Given the description of an element on the screen output the (x, y) to click on. 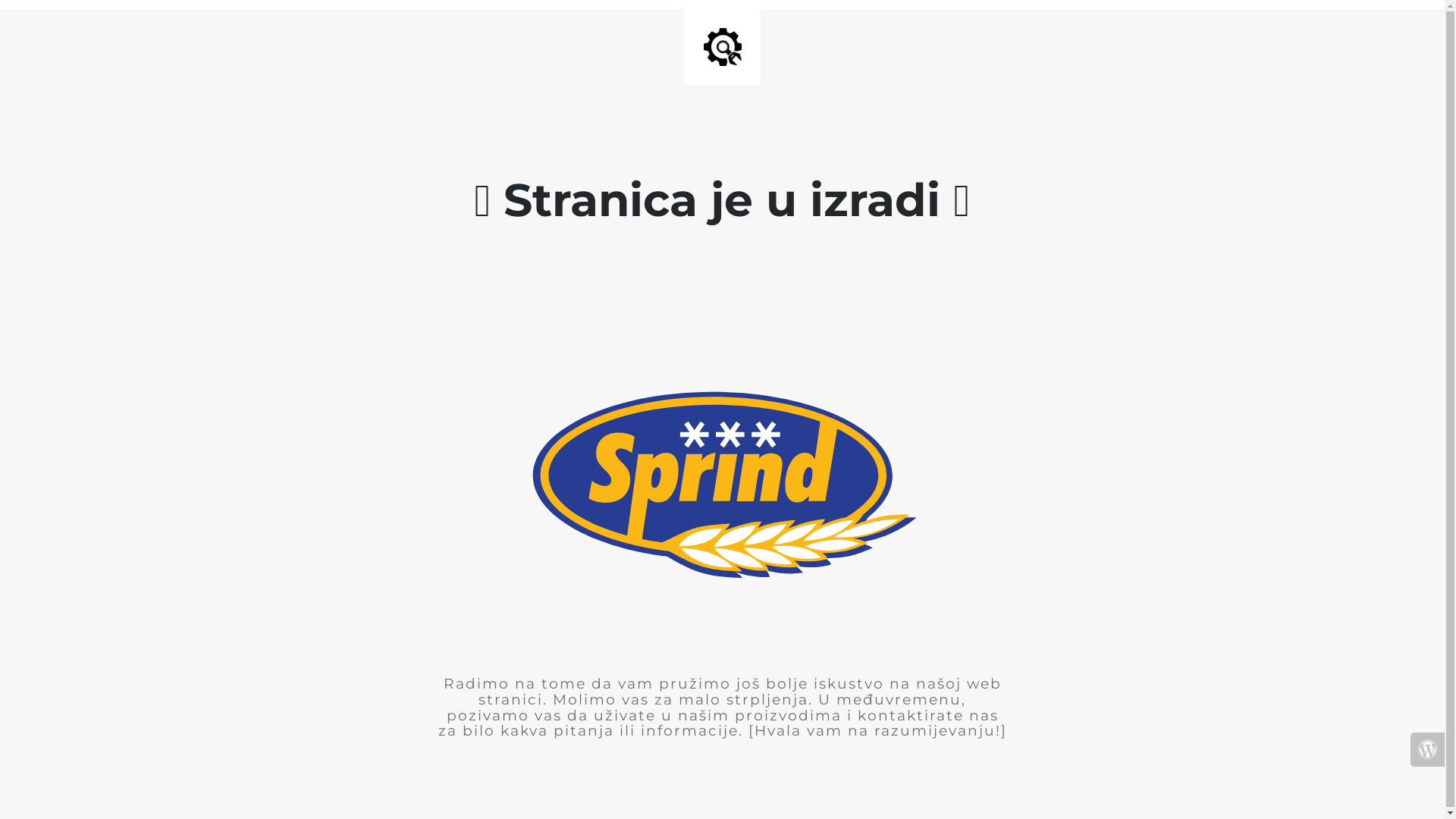
Site is Under Construction Element type: hover (722, 46)
